Given the description of an element on the screen output the (x, y) to click on. 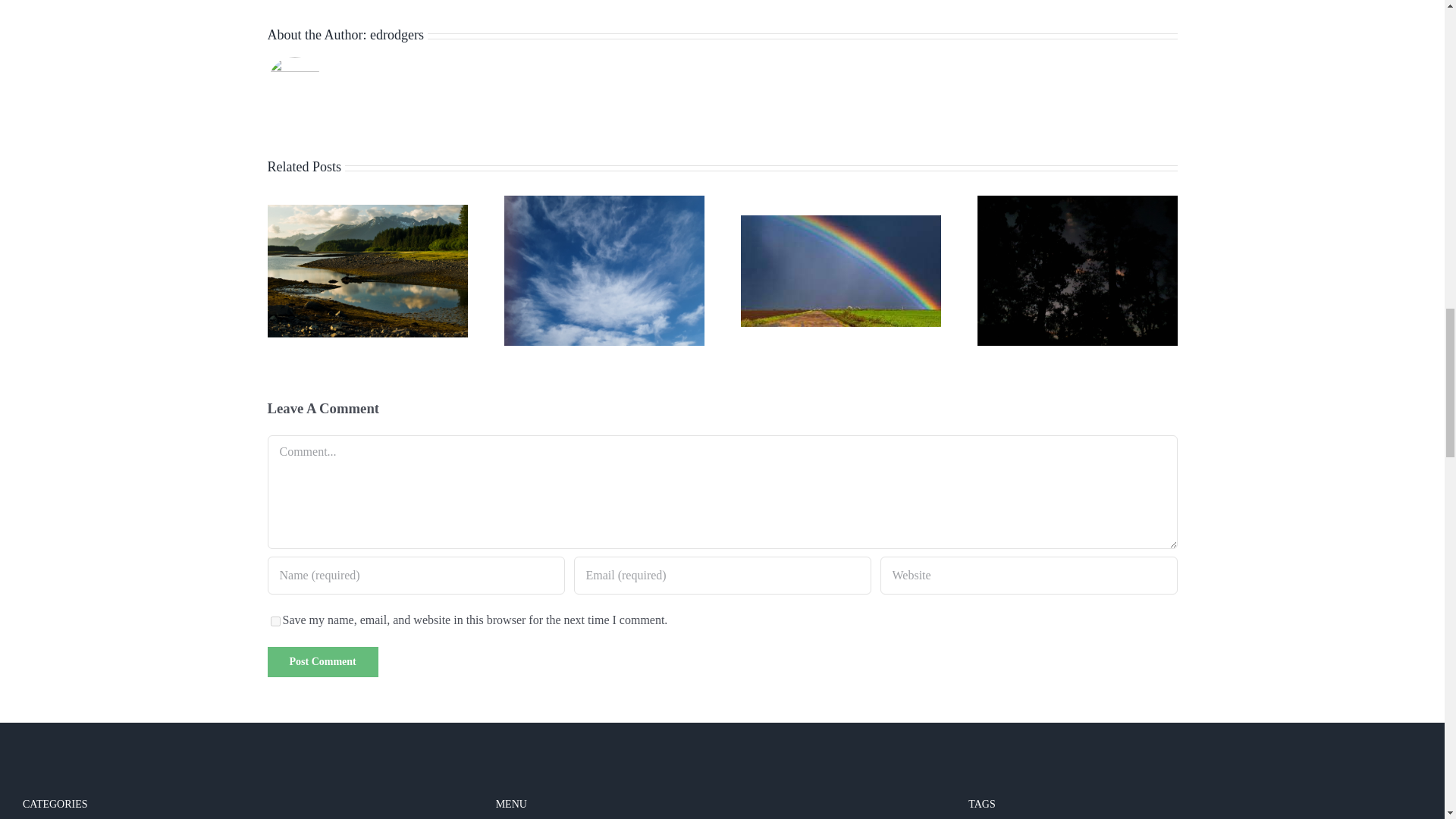
Posts by edrodgers (396, 34)
yes (274, 621)
Post Comment (321, 662)
